Given the description of an element on the screen output the (x, y) to click on. 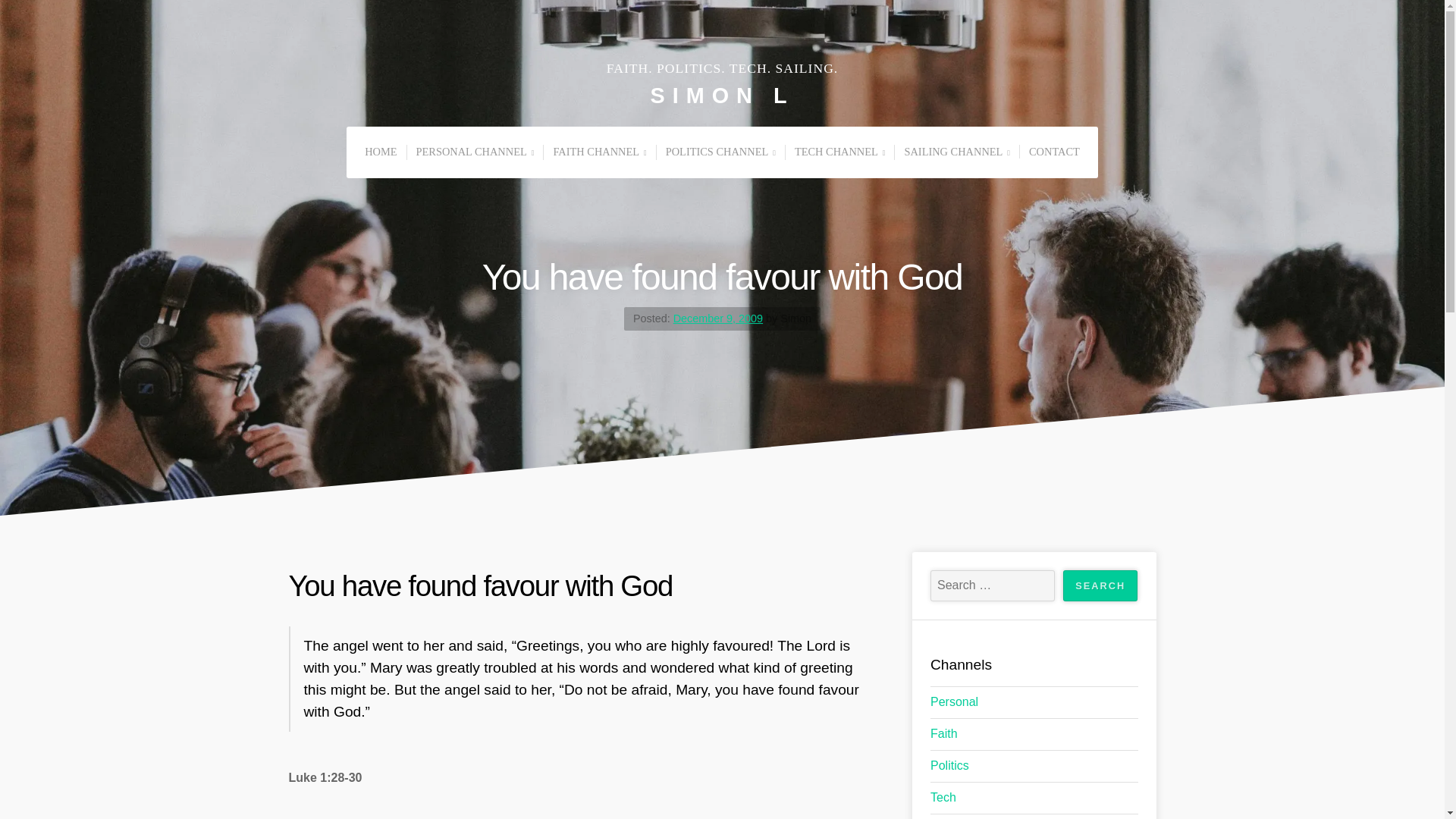
SAILING CHANNEL (956, 151)
FAITH CHANNEL (599, 151)
SIMON L (722, 95)
CONTACT (1054, 151)
POLITICS CHANNEL (720, 151)
December 9, 2009 (717, 318)
PERSONAL CHANNEL (474, 151)
HOME (380, 151)
TECH CHANNEL (839, 151)
Search (1099, 585)
